Given the description of an element on the screen output the (x, y) to click on. 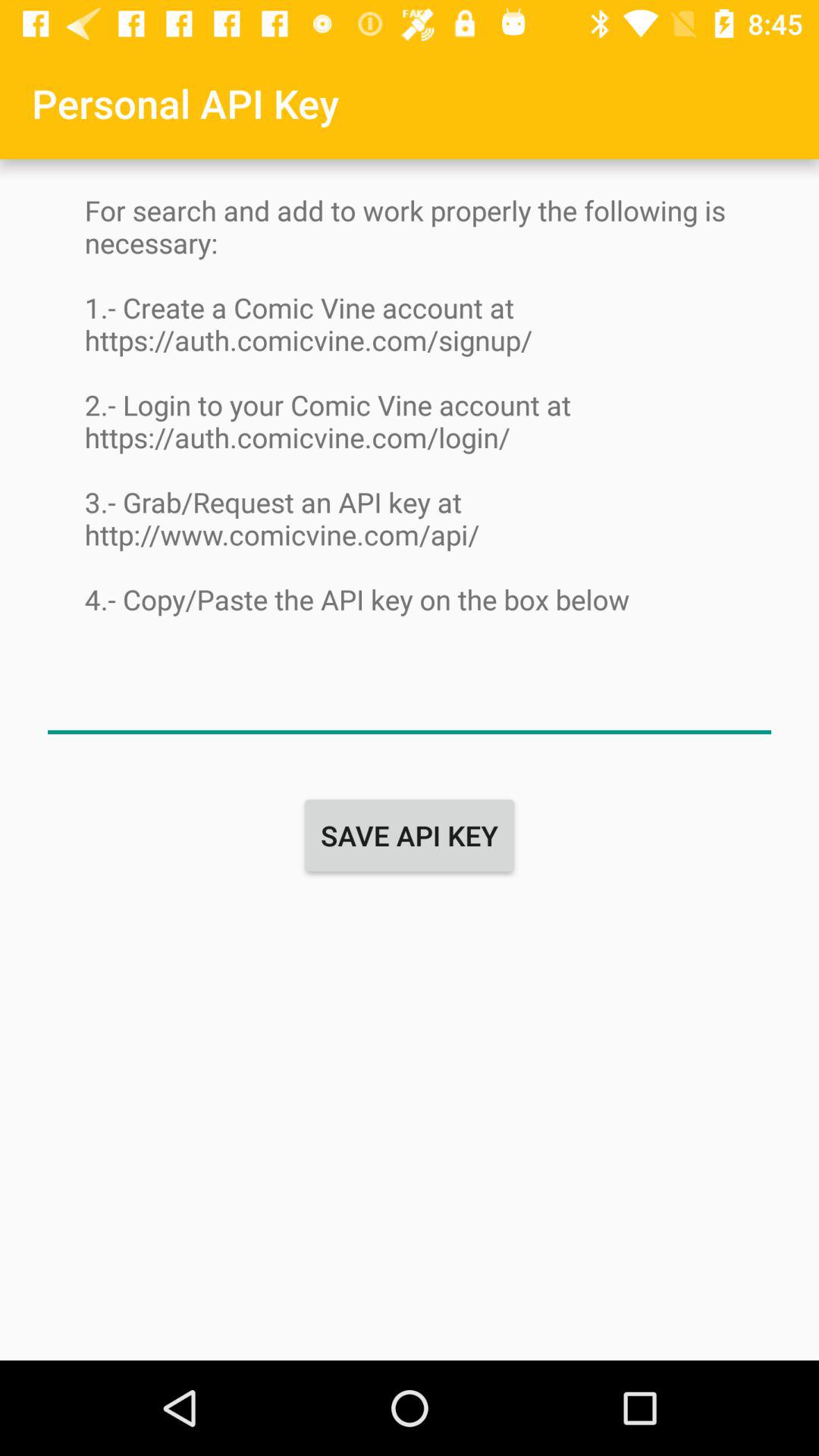
enter api key (409, 702)
